Given the description of an element on the screen output the (x, y) to click on. 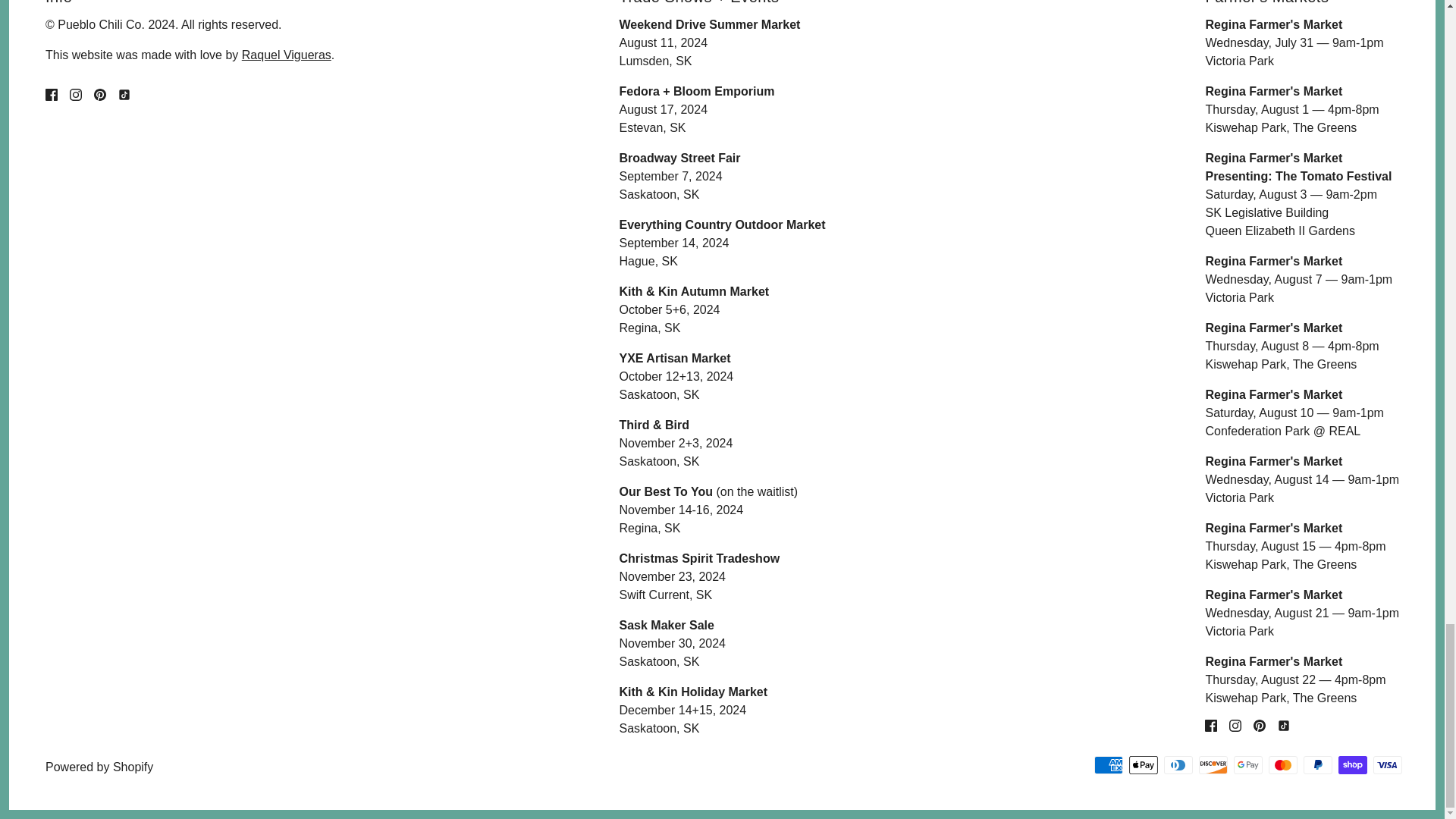
Visa (1387, 764)
American Express (1108, 764)
Google Pay (1247, 764)
Mastercard (1282, 764)
Apple Pay (1143, 764)
Discover (1212, 764)
Diners Club (1177, 764)
Raquel Vigueras (286, 54)
Powered by Shopify (98, 766)
PayPal (1317, 764)
Raquel Vigueras (286, 54)
Shop Pay (1352, 764)
